Given the description of an element on the screen output the (x, y) to click on. 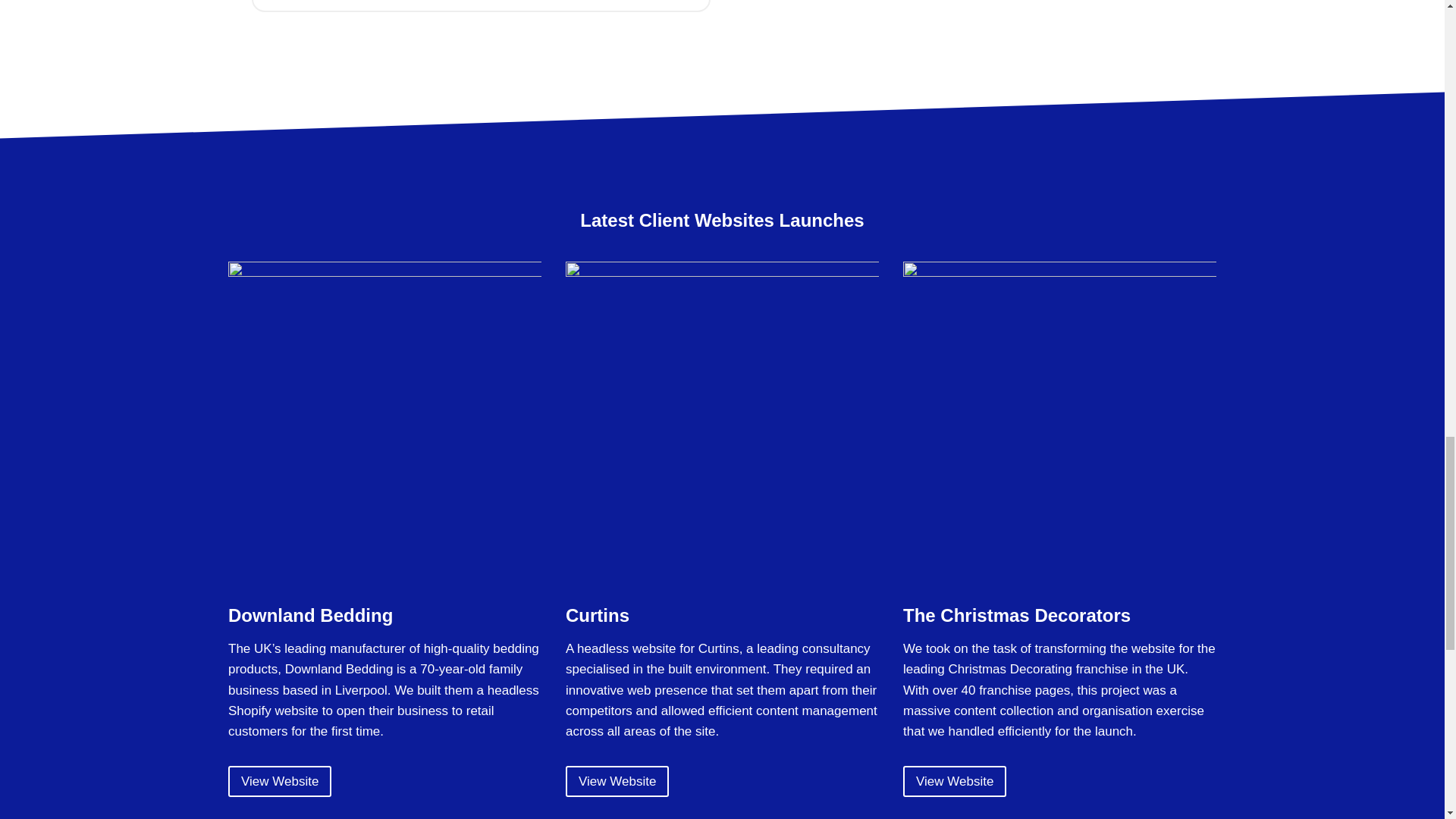
View Website (954, 780)
View Website (279, 780)
View Website (617, 780)
